Given the description of an element on the screen output the (x, y) to click on. 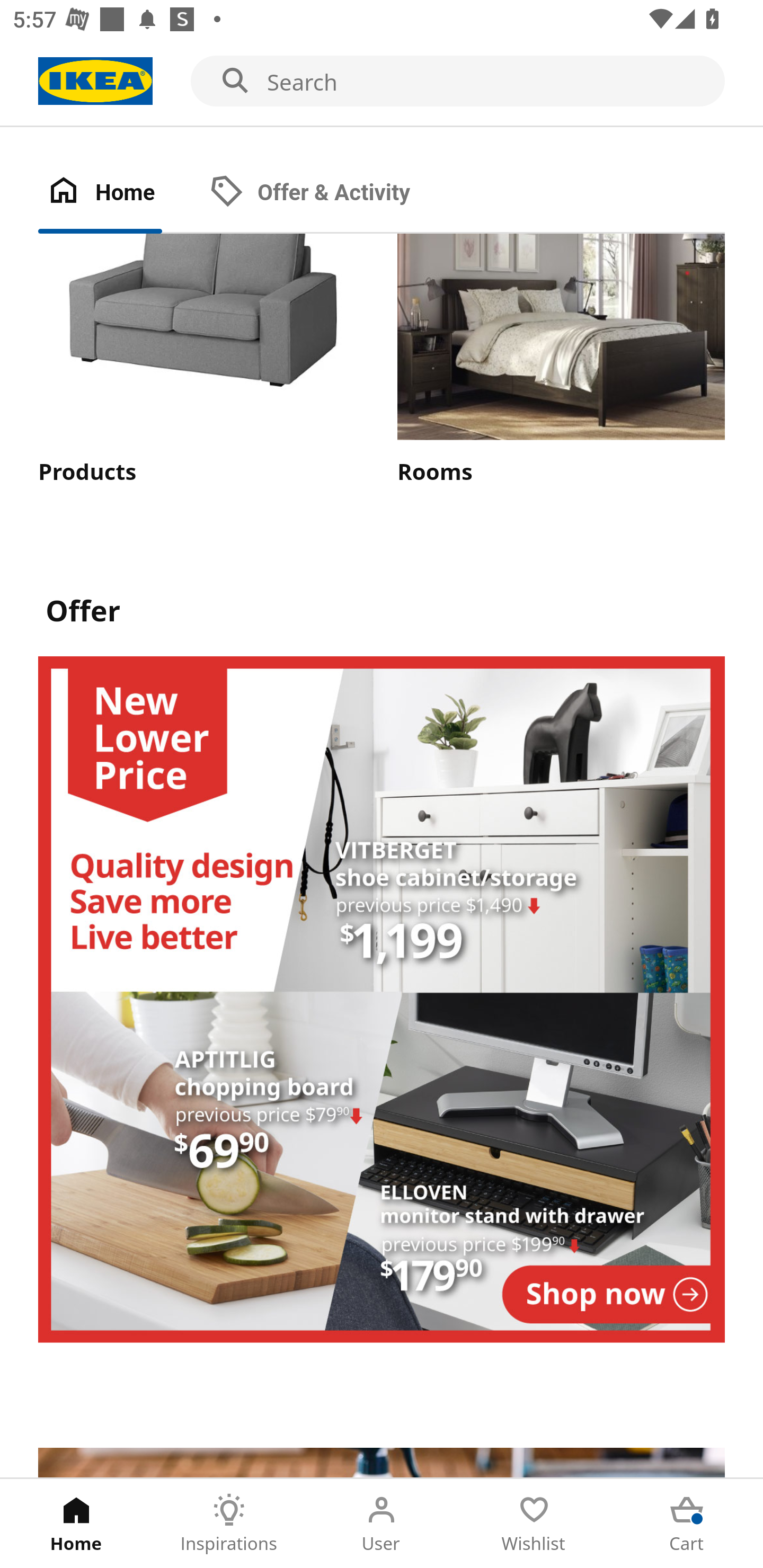
Search (381, 81)
Home
Tab 1 of 2 (118, 192)
Offer & Activity
Tab 2 of 2 (327, 192)
Products (201, 360)
Rooms (560, 360)
Home
Tab 1 of 5 (76, 1522)
Inspirations
Tab 2 of 5 (228, 1522)
User
Tab 3 of 5 (381, 1522)
Wishlist
Tab 4 of 5 (533, 1522)
Cart
Tab 5 of 5 (686, 1522)
